Given the description of an element on the screen output the (x, y) to click on. 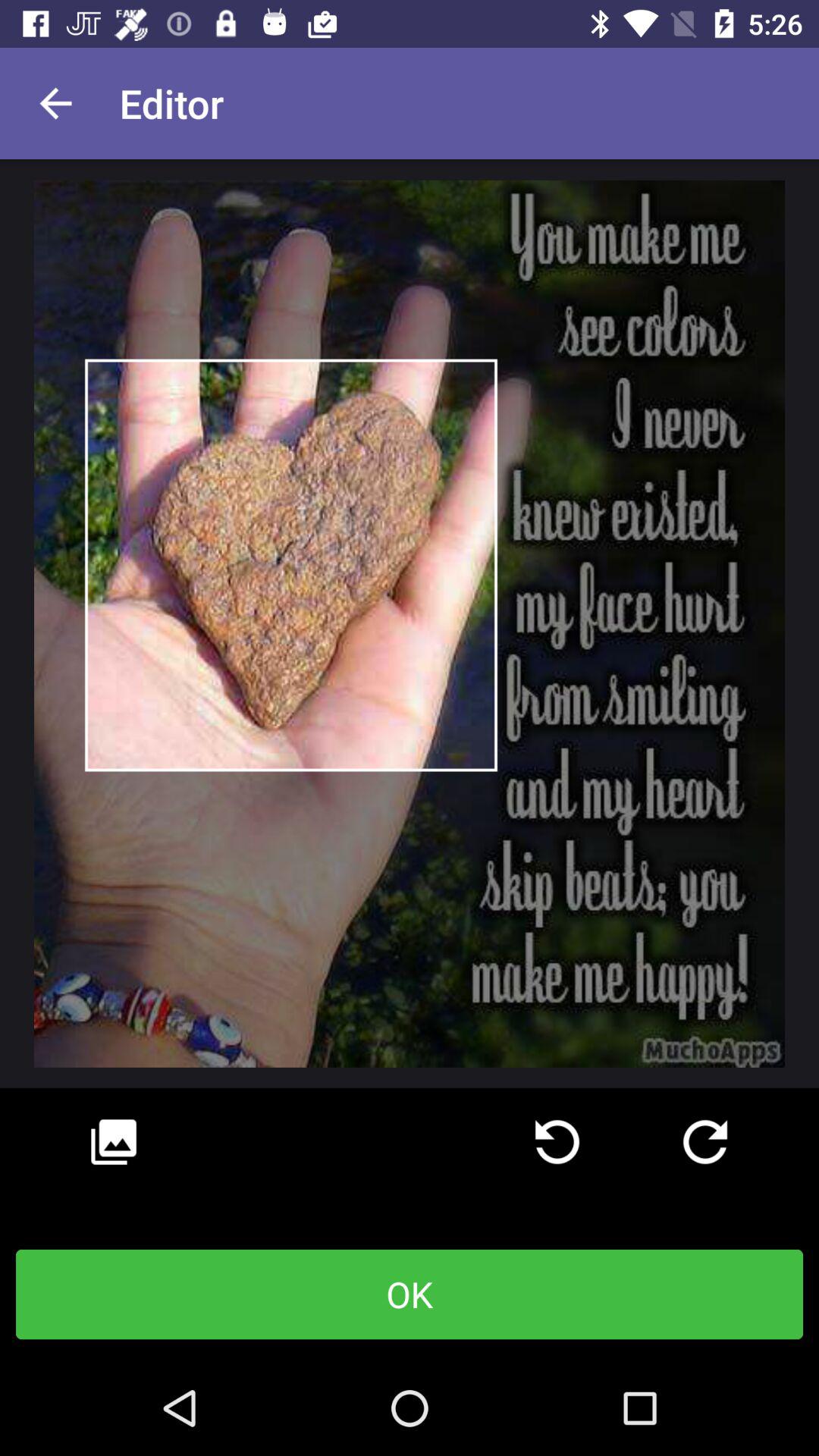
turn on the ok (409, 1294)
